Given the description of an element on the screen output the (x, y) to click on. 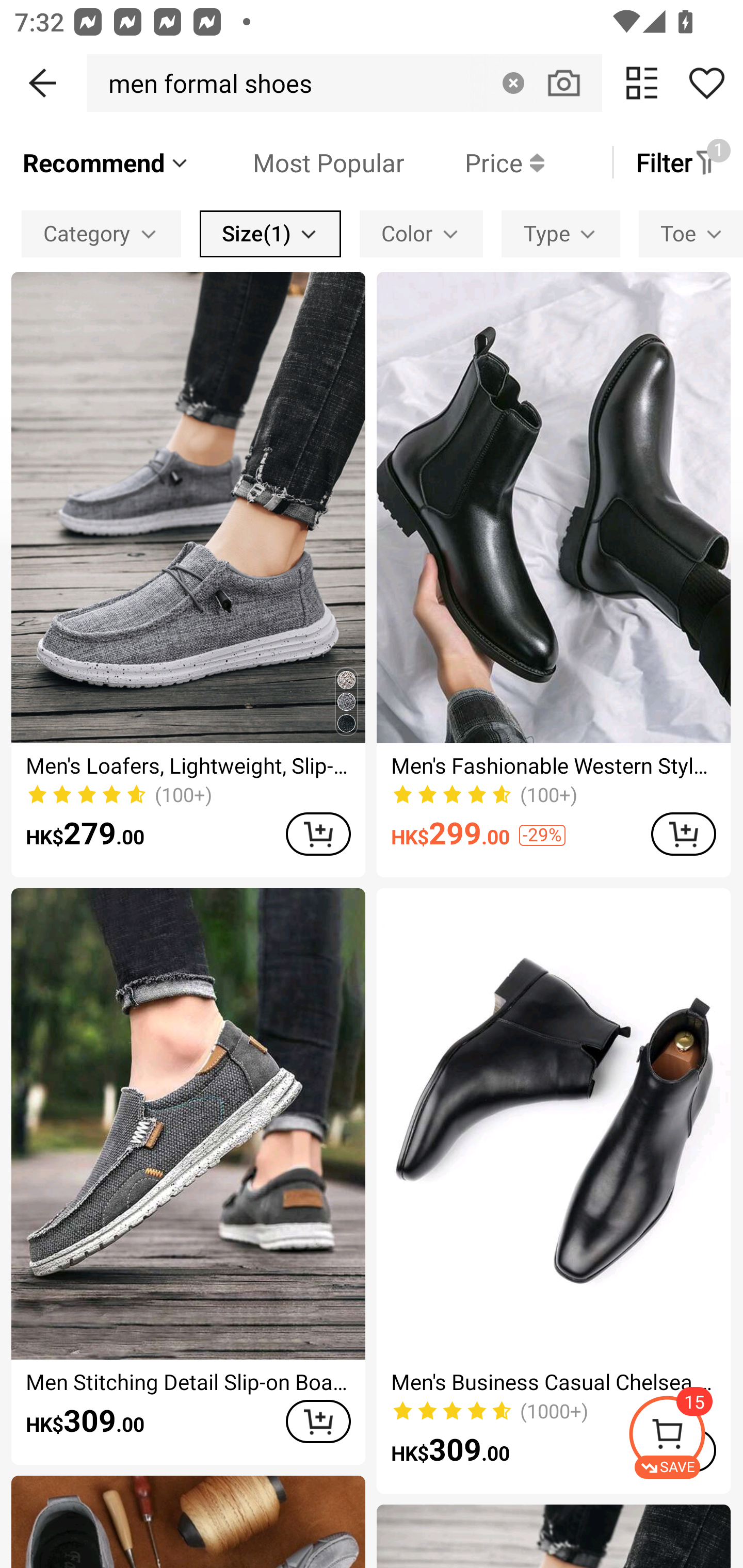
men formal shoes Clear (343, 82)
men formal shoes (204, 82)
Clear (513, 82)
change view (641, 82)
Share (706, 82)
Recommend (106, 162)
Most Popular (297, 162)
Price (474, 162)
Filter 1 (677, 162)
Category (101, 233)
Size(1) (270, 233)
Color (420, 233)
Type (560, 233)
Toe (690, 233)
ADD TO CART (318, 834)
ADD TO CART (683, 834)
SAVE (685, 1436)
ADD TO CART (318, 1421)
